Given the description of an element on the screen output the (x, y) to click on. 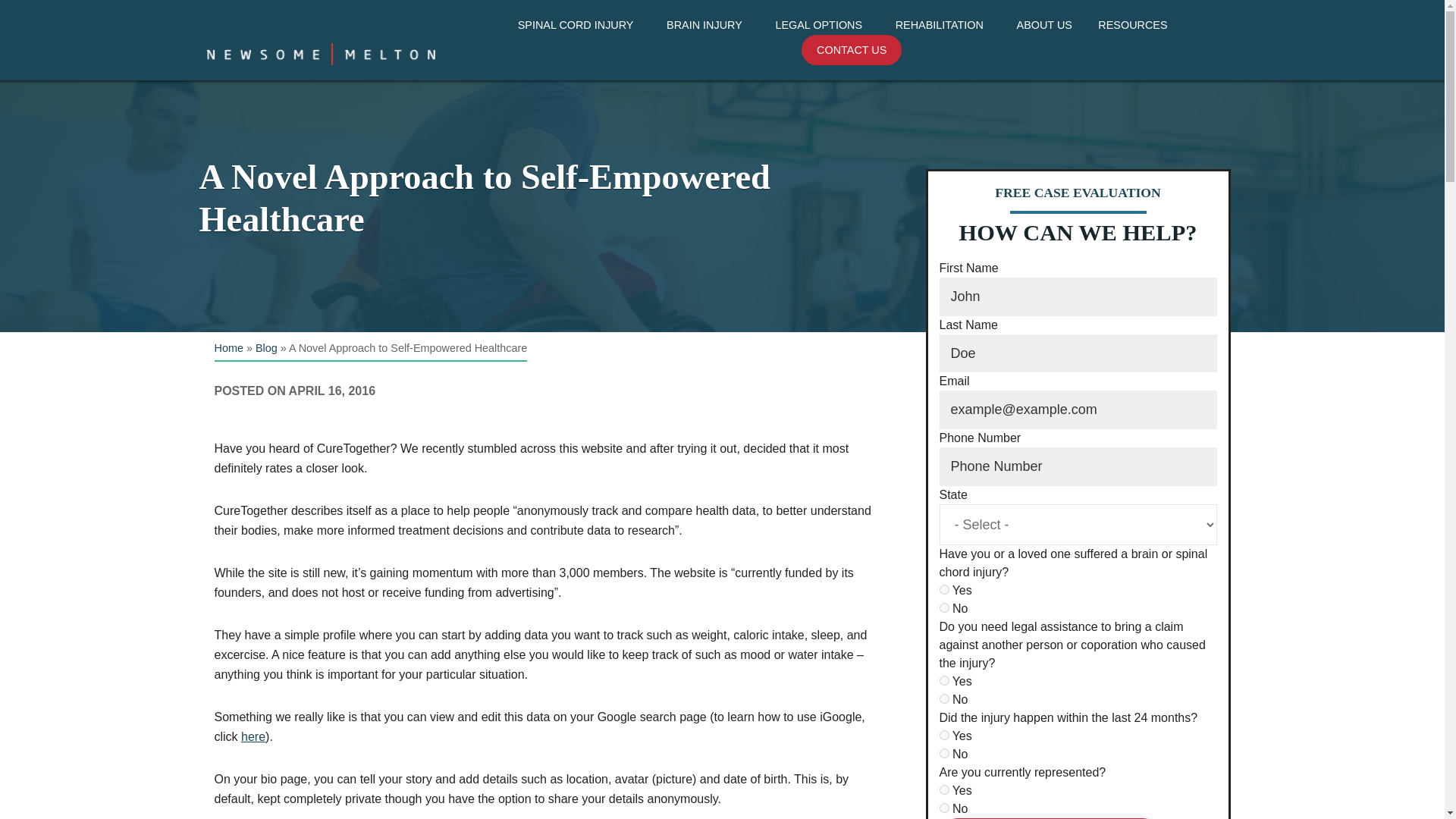
no (944, 607)
no (944, 753)
ABOUT US (1044, 25)
Prognosis (580, 53)
Prognosis (709, 53)
yes (944, 735)
LEGAL OPTIONS (821, 25)
BRAIN INJURY (708, 25)
no (944, 808)
Brain Injury FAQs (709, 53)
yes (944, 589)
Rehab Center Directory (944, 53)
Spinal Cord and Brain Injury Rehabilitation in California (944, 62)
REHABILITATION (942, 25)
